Given the description of an element on the screen output the (x, y) to click on. 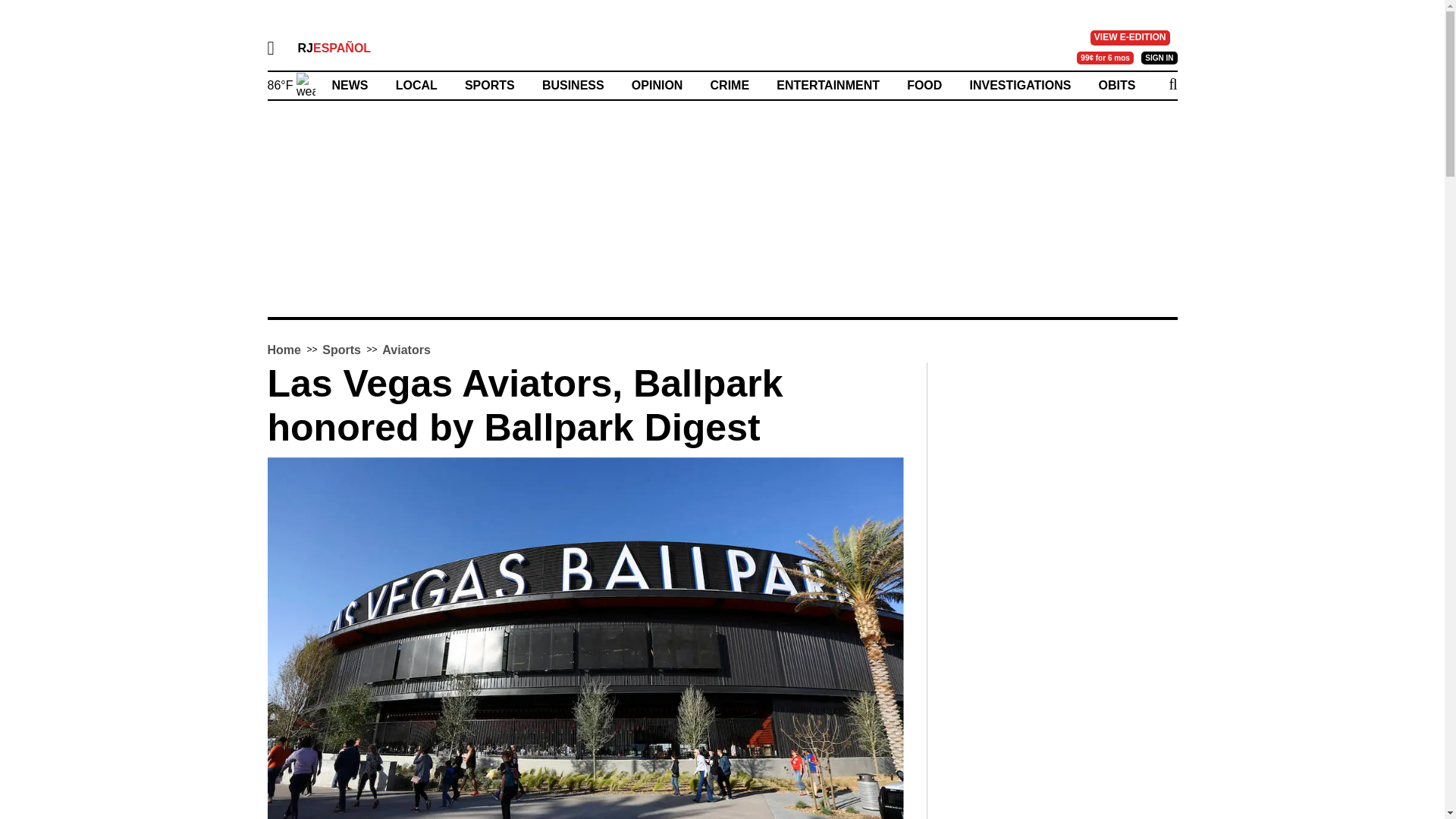
FOOD (924, 84)
ENTERTAINMENT (827, 84)
Weather Forecast (290, 83)
SIGN IN (1158, 58)
SPORTS (489, 84)
LOCAL (417, 84)
BUSINESS (572, 84)
OBITS (1117, 84)
NEWS (349, 84)
INVESTIGATIONS (1019, 84)
